Given the description of an element on the screen output the (x, y) to click on. 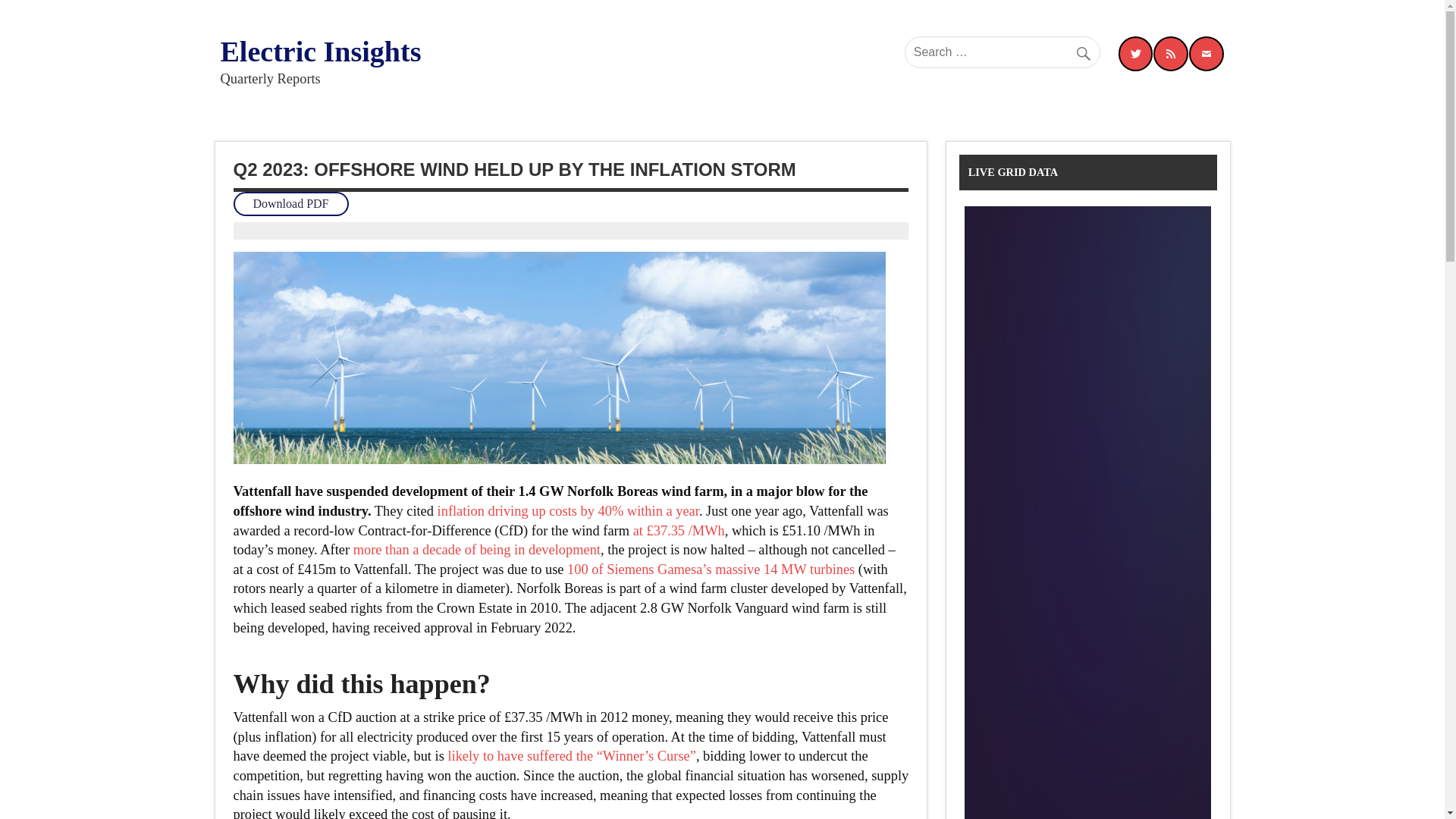
more than a decade of being in development (476, 549)
LIVE GRID DATA (1013, 172)
Download PDF (290, 204)
Electric Insights (319, 51)
